Given the description of an element on the screen output the (x, y) to click on. 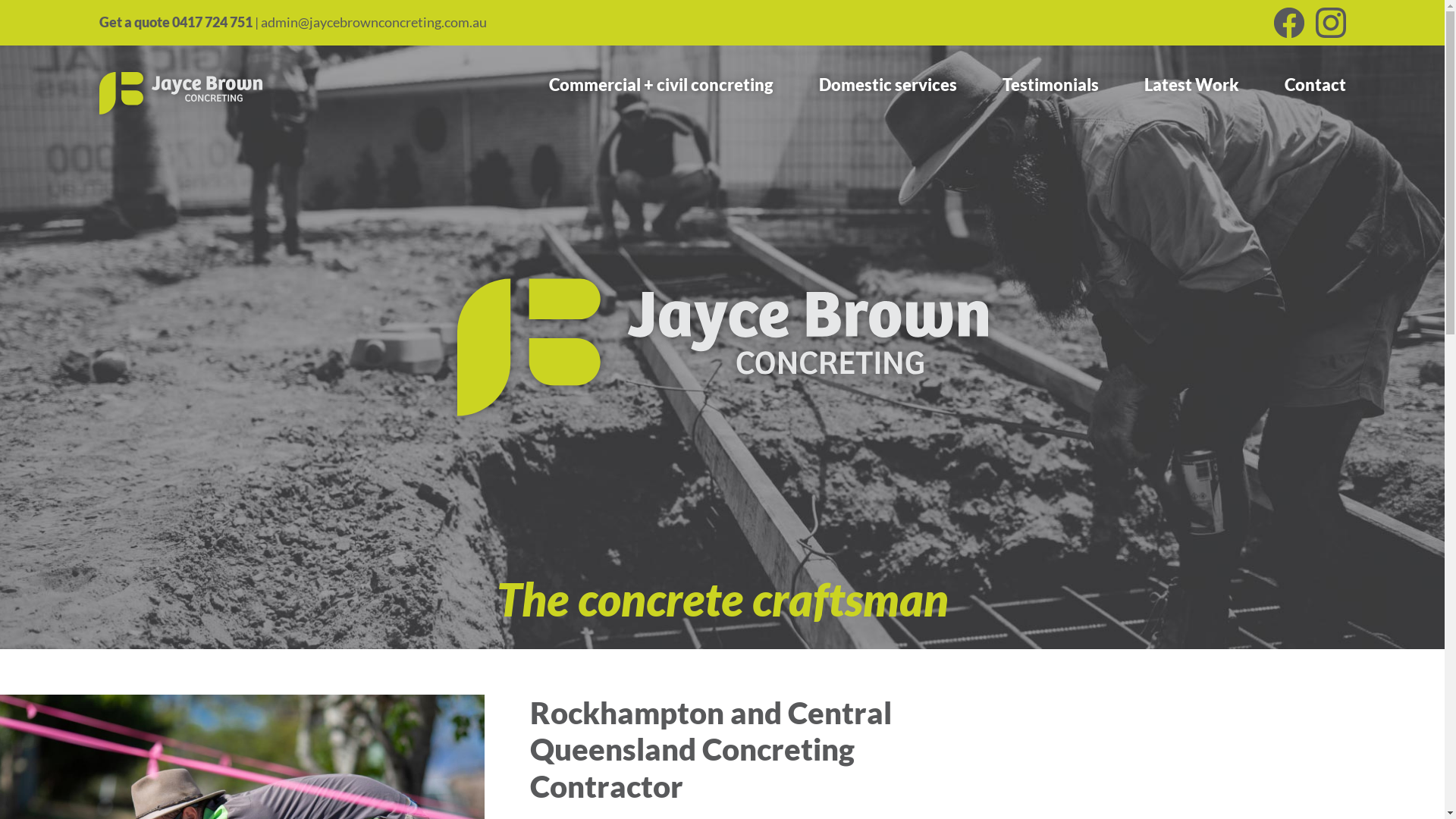
Latest Work Element type: text (1190, 84)
Domestic services Element type: text (887, 84)
0417 724 751 Element type: text (211, 21)
admin@jaycebrownconcreting.com.au Element type: text (373, 21)
Commercial + civil concreting Element type: text (660, 84)
Contact Element type: text (1315, 84)
Testimonials Element type: text (1050, 84)
